Given the description of an element on the screen output the (x, y) to click on. 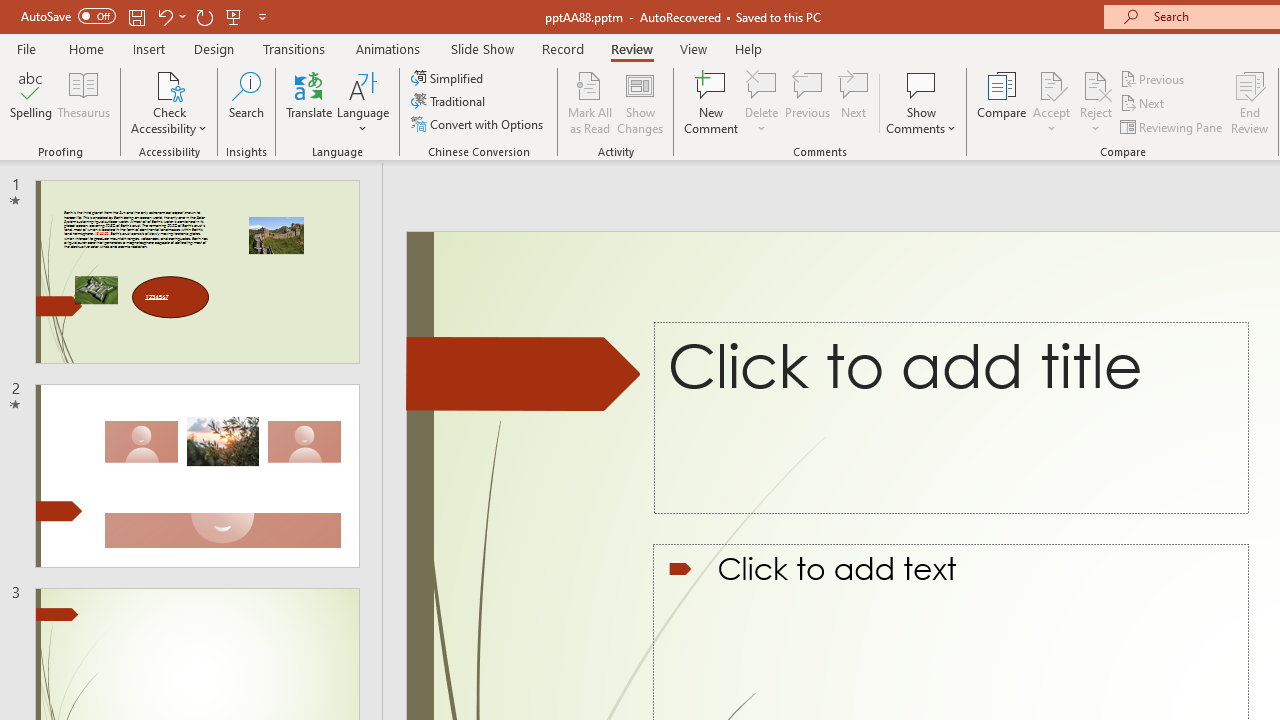
Previous (1153, 78)
New Comment (711, 102)
End Review (1249, 102)
Spelling... (31, 102)
Show Comments (921, 102)
Translate (309, 102)
